Given the description of an element on the screen output the (x, y) to click on. 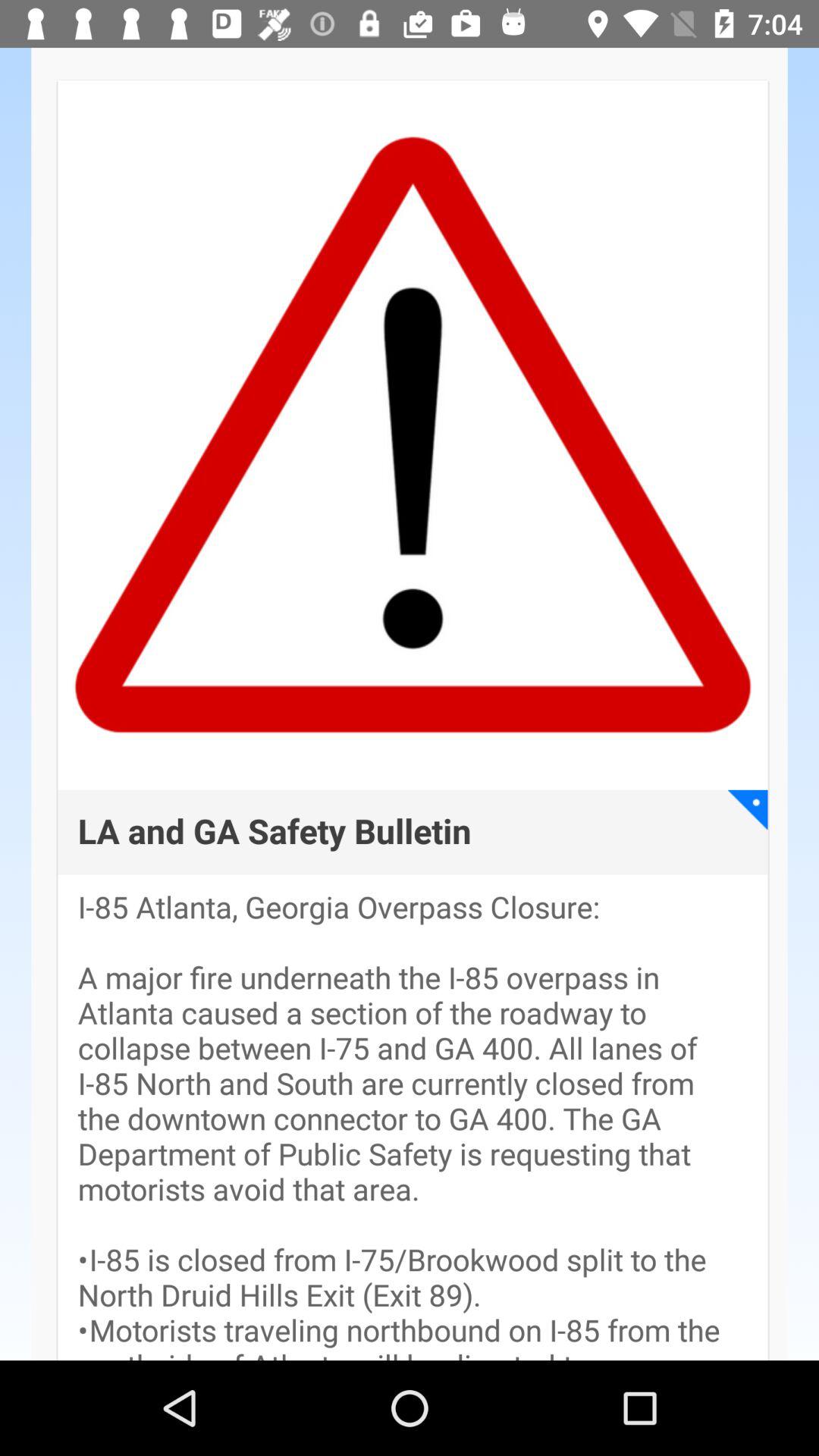
turn on app above i 85 atlanta icon (747, 809)
